Given the description of an element on the screen output the (x, y) to click on. 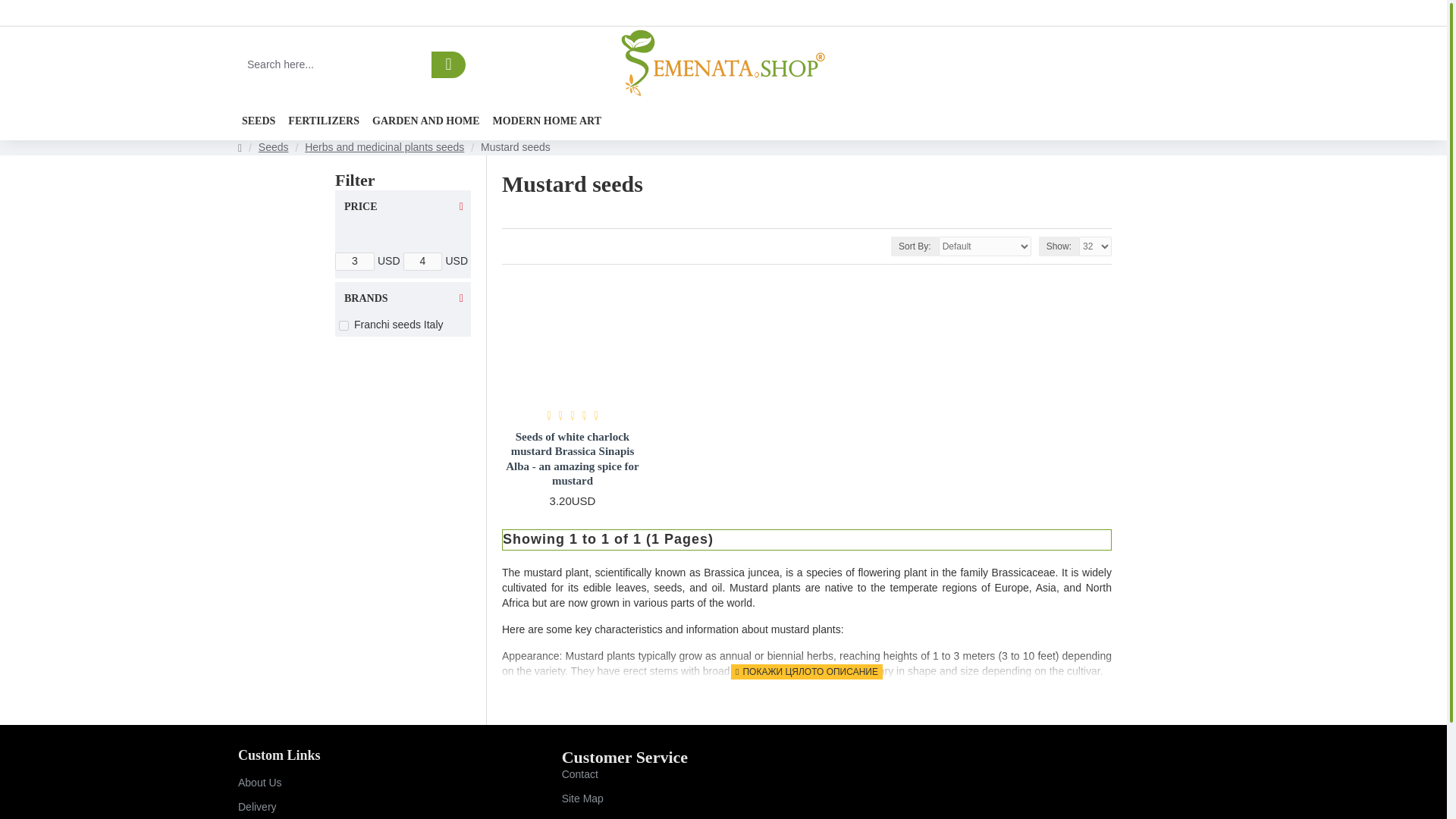
3 (354, 261)
Semenata.org (723, 64)
SEEDS (258, 120)
19 (344, 325)
4 (422, 261)
